Given the description of an element on the screen output the (x, y) to click on. 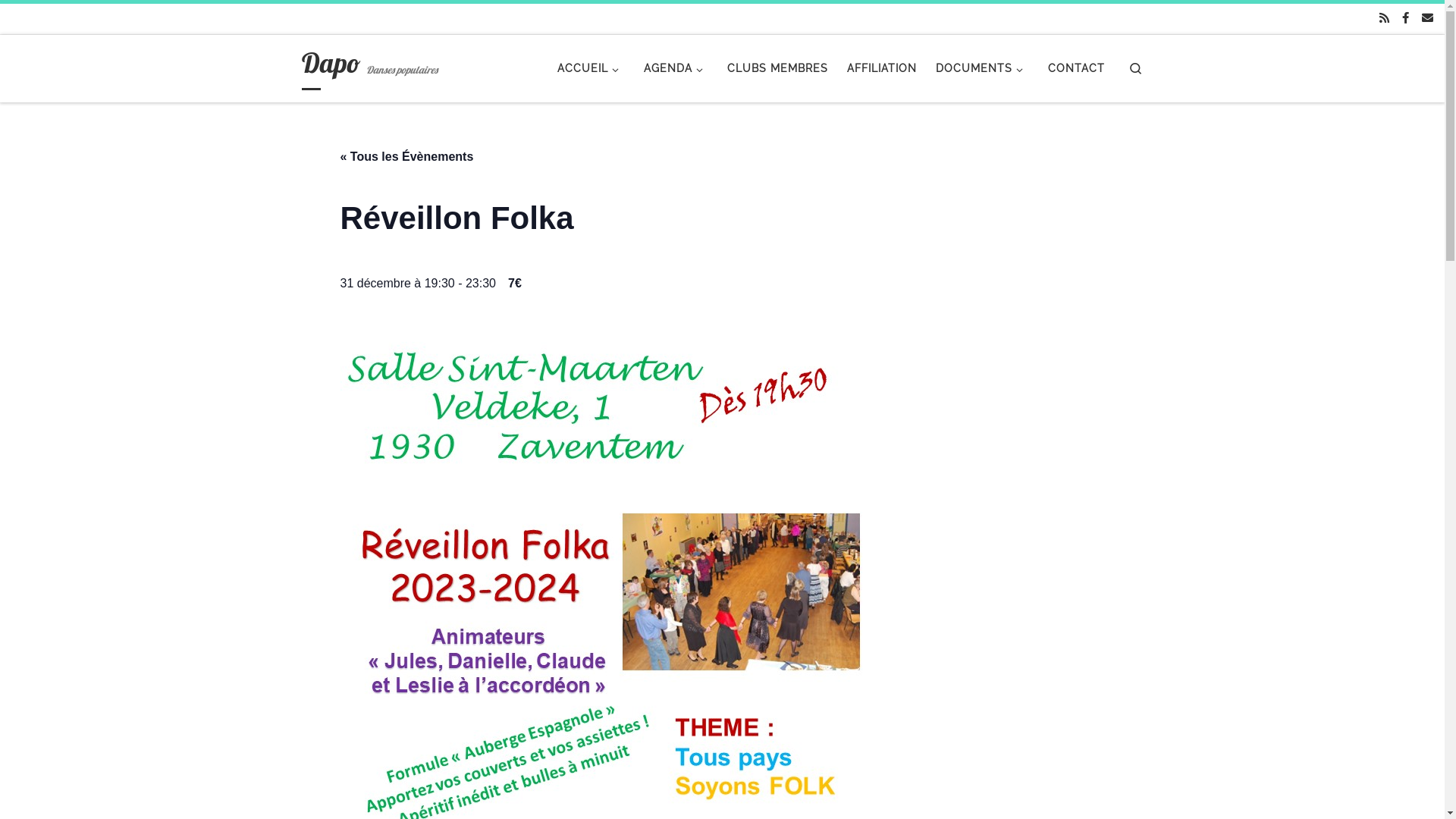
DOCUMENTS Element type: text (982, 68)
AGENDA Element type: text (675, 68)
Suivez-nous sur Facebook-f (alias) Element type: hover (1405, 18)
CLUBS MEMBRES Element type: text (777, 68)
Dapo Element type: text (330, 66)
CONTACT Element type: text (1075, 68)
Suivez-nous sur Email Element type: hover (1427, 18)
ACCUEIL Element type: text (590, 68)
Abonnez-vous au flux rss Element type: hover (1384, 18)
AFFILIATION Element type: text (882, 68)
Search Element type: text (1135, 68)
Skip to content Element type: text (60, 20)
